Given the description of an element on the screen output the (x, y) to click on. 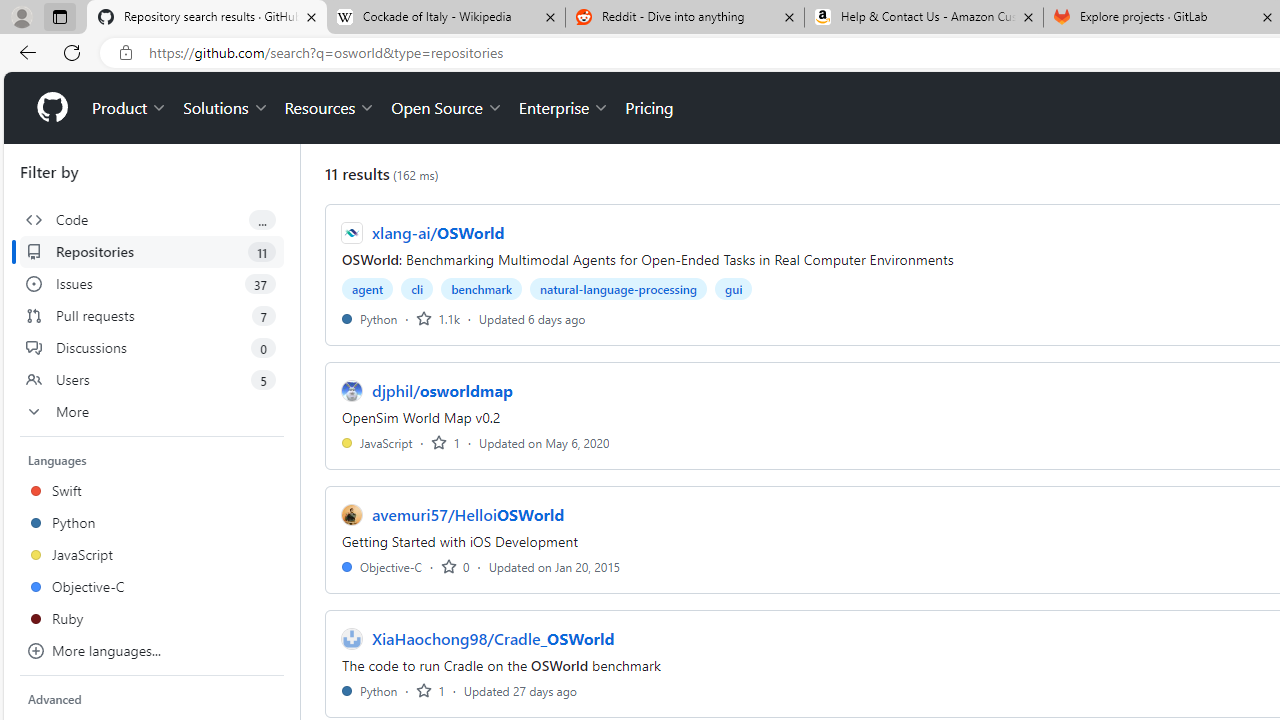
agent (367, 288)
Updated 6 days ago (531, 318)
1 stars (430, 690)
1 (430, 690)
Product (130, 107)
0 (455, 566)
xlang-ai/OSWorld (438, 232)
